Given the description of an element on the screen output the (x, y) to click on. 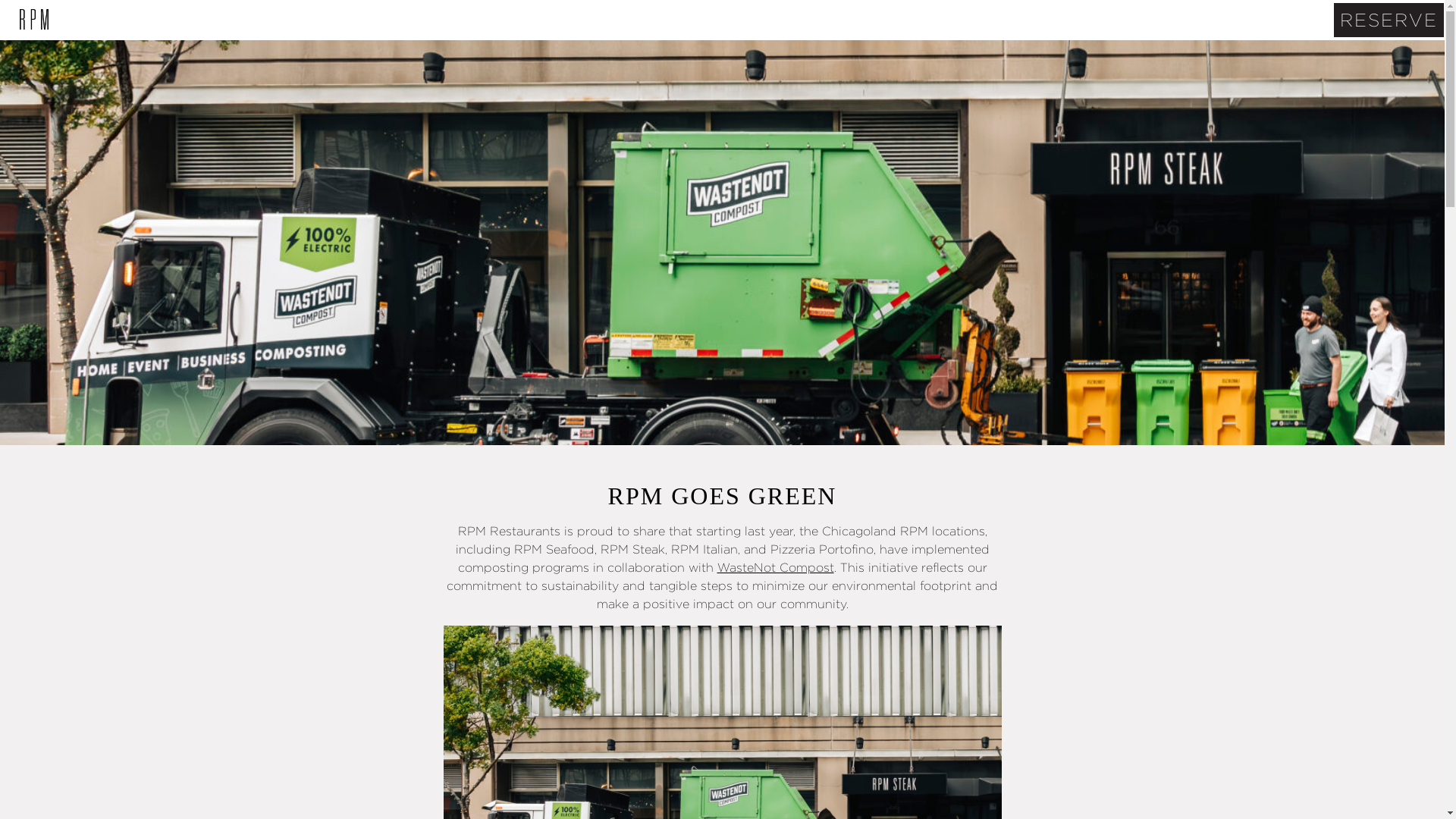
RESERVE (1388, 19)
WasteNot Compost (775, 567)
